Given the description of an element on the screen output the (x, y) to click on. 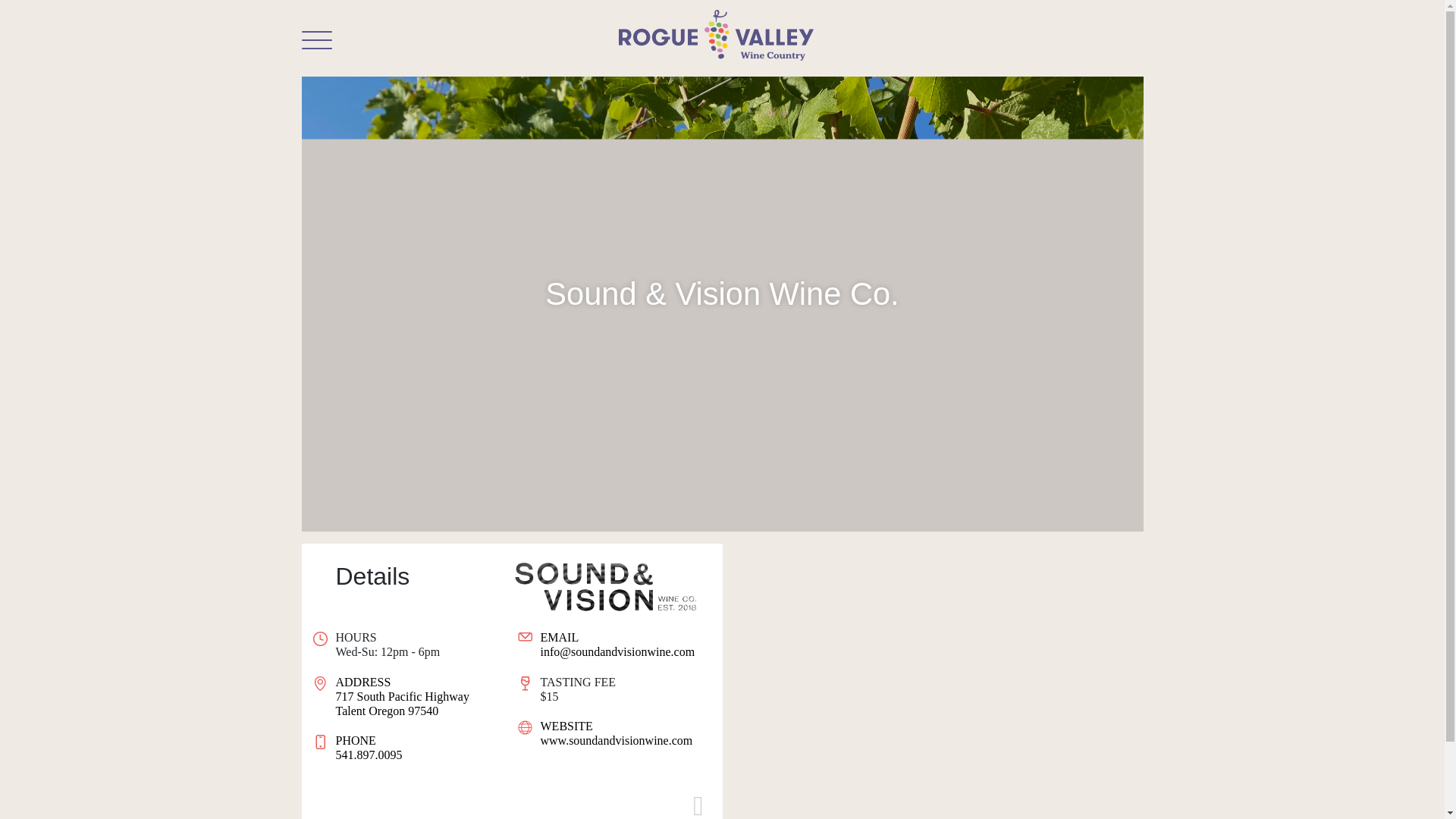
Instagram (414, 695)
